Given the description of an element on the screen output the (x, y) to click on. 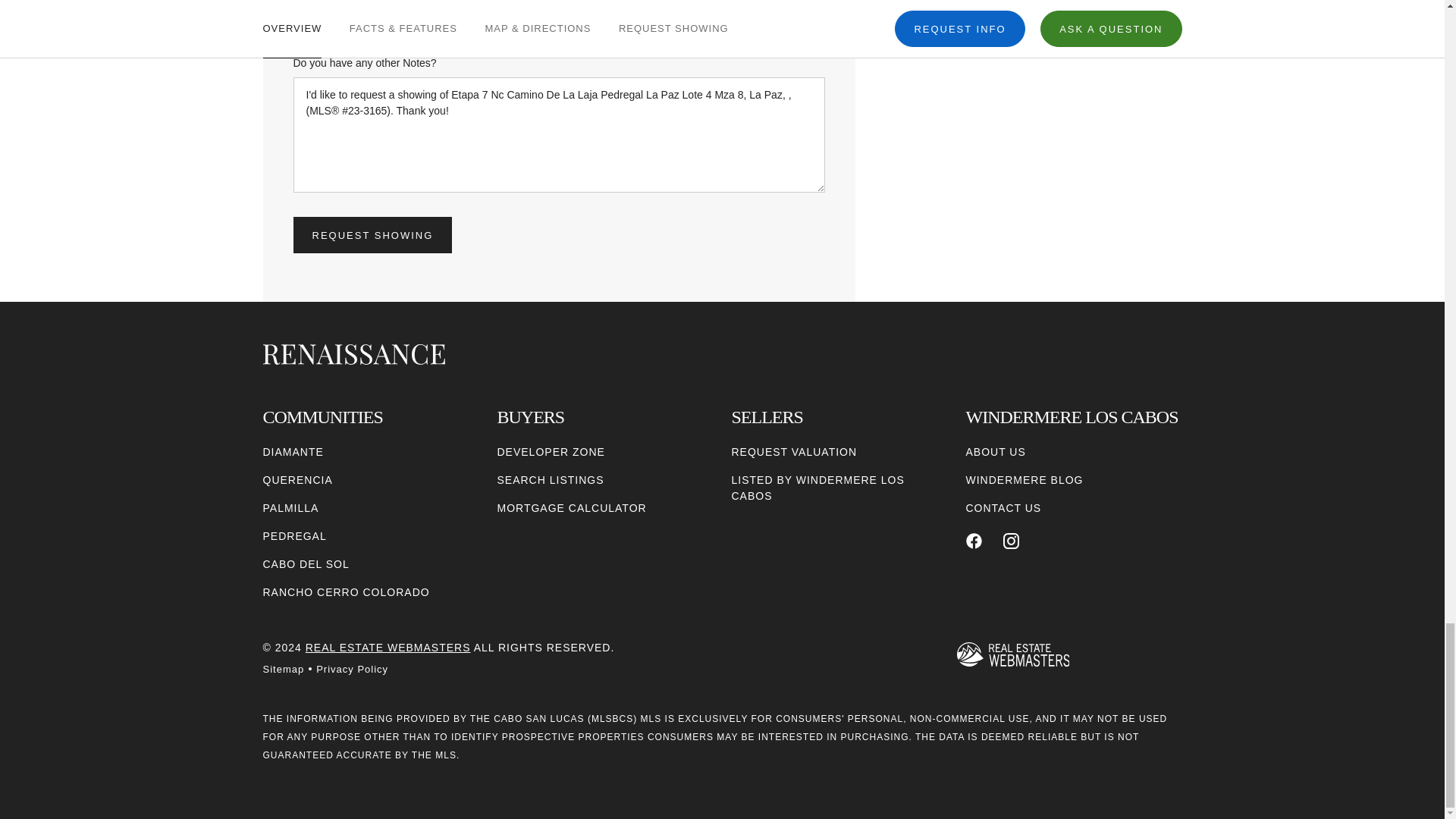
Next Week (627, 15)
This Week (490, 15)
ASAP (352, 15)
FACEBOOK (973, 540)
